Given the description of an element on the screen output the (x, y) to click on. 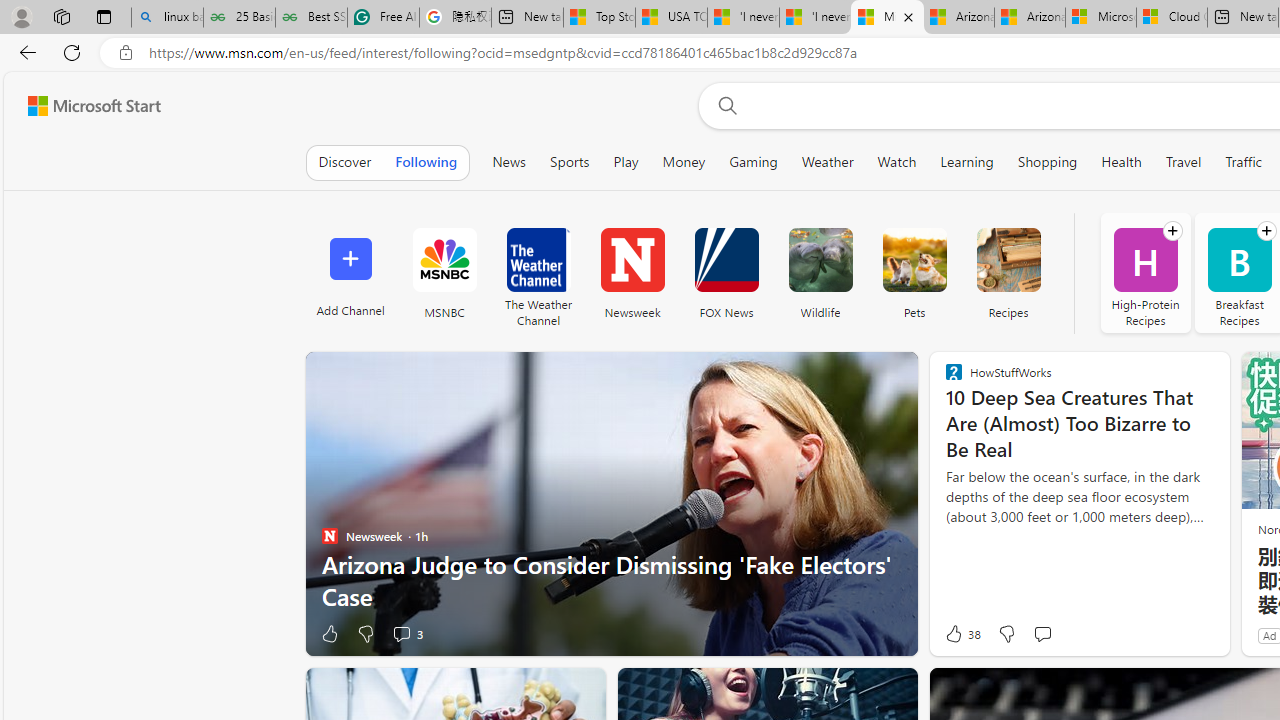
Pets (914, 272)
Sports (569, 161)
38 Like (961, 633)
Watch (897, 162)
Money (683, 161)
Traffic (1243, 162)
Play (625, 161)
Follow channel (1266, 231)
Sports (569, 162)
